Given the description of an element on the screen output the (x, y) to click on. 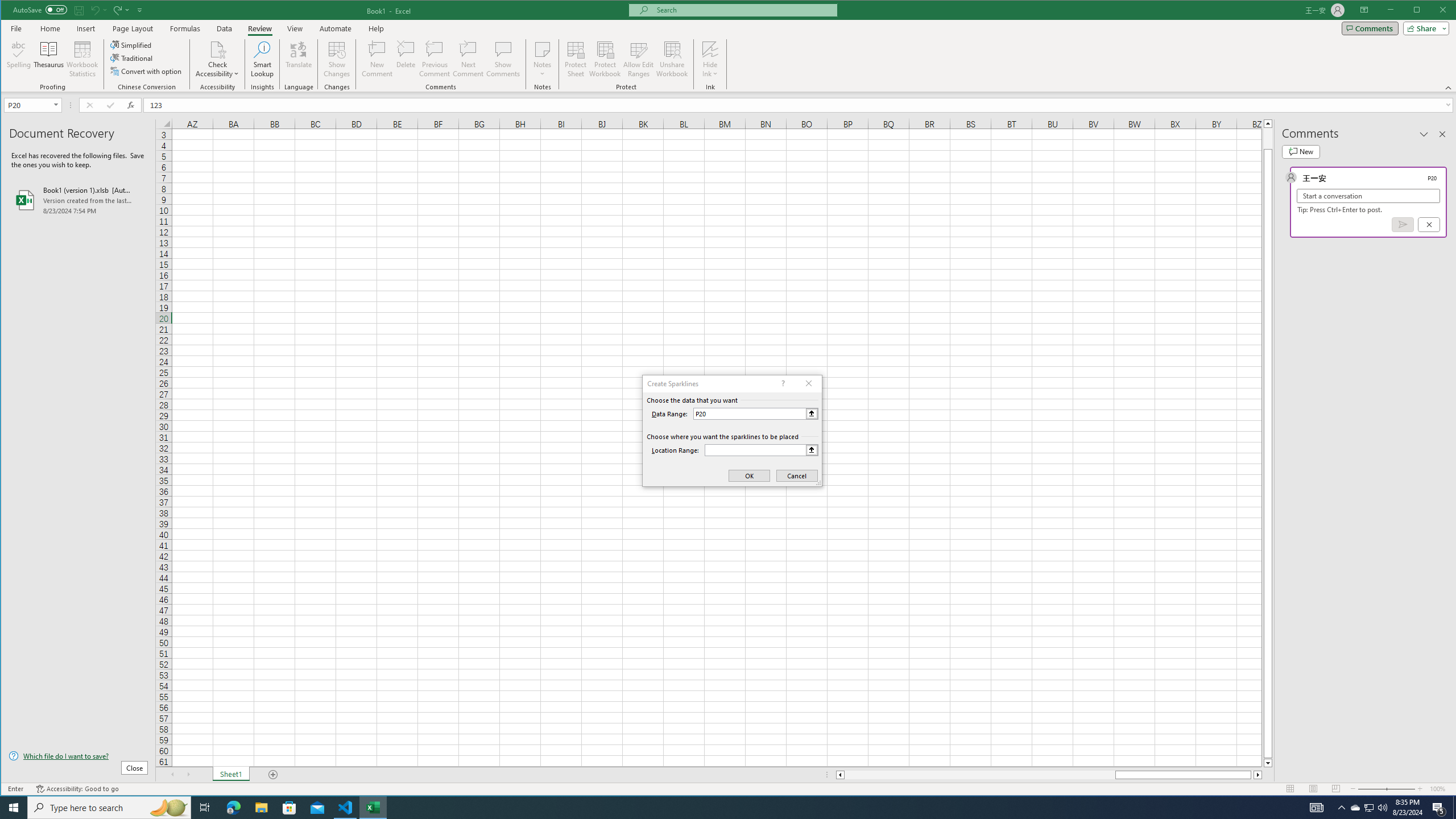
Unshare Workbook (671, 59)
Spelling... (18, 59)
Next Comment (467, 59)
Allow Edit Ranges (638, 59)
Simplified (132, 44)
Traditional (132, 57)
Page up (1267, 138)
